Given the description of an element on the screen output the (x, y) to click on. 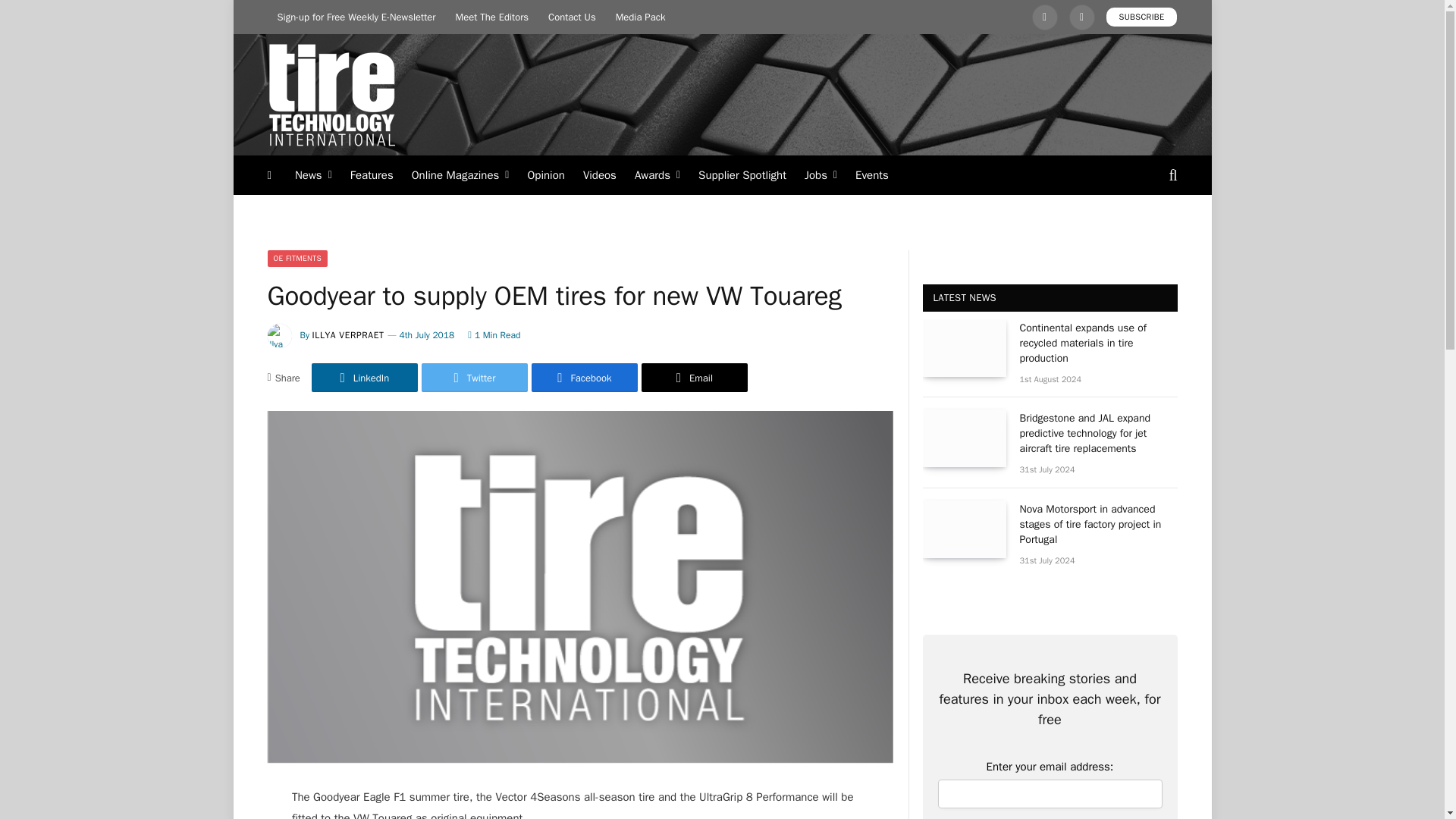
Posts by Illya Verpraet (348, 335)
Share via Email (695, 377)
Share on Twitter (474, 377)
Share on LinkedIn (364, 377)
Share on Facebook (584, 377)
Tire Technology International (330, 94)
